Given the description of an element on the screen output the (x, y) to click on. 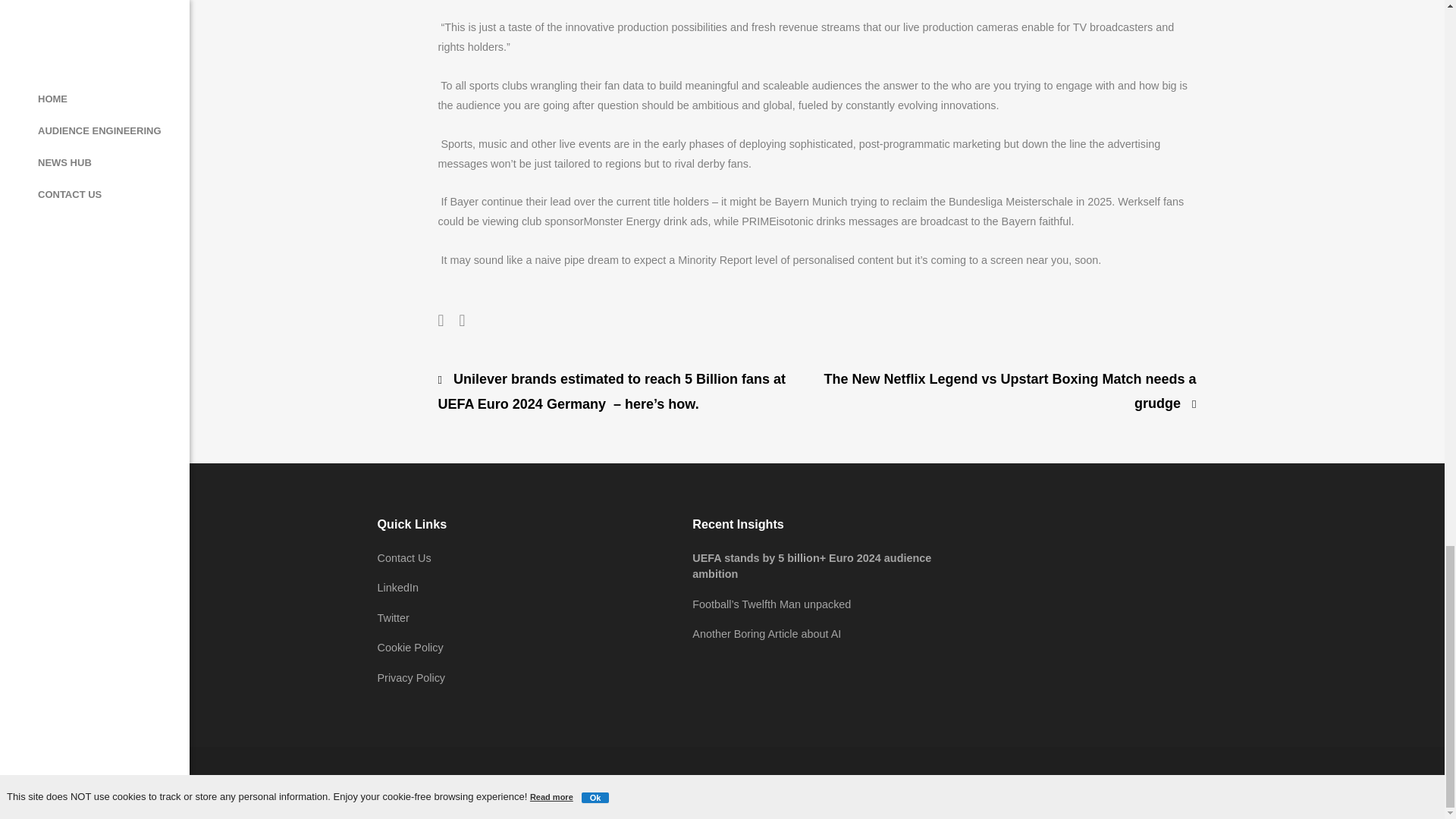
Cookie Policy (410, 647)
Privacy Policy (411, 677)
Twitter (393, 617)
LinkedIn (398, 587)
Another Boring Article about AI (767, 633)
Contact Us (403, 558)
